Given the description of an element on the screen output the (x, y) to click on. 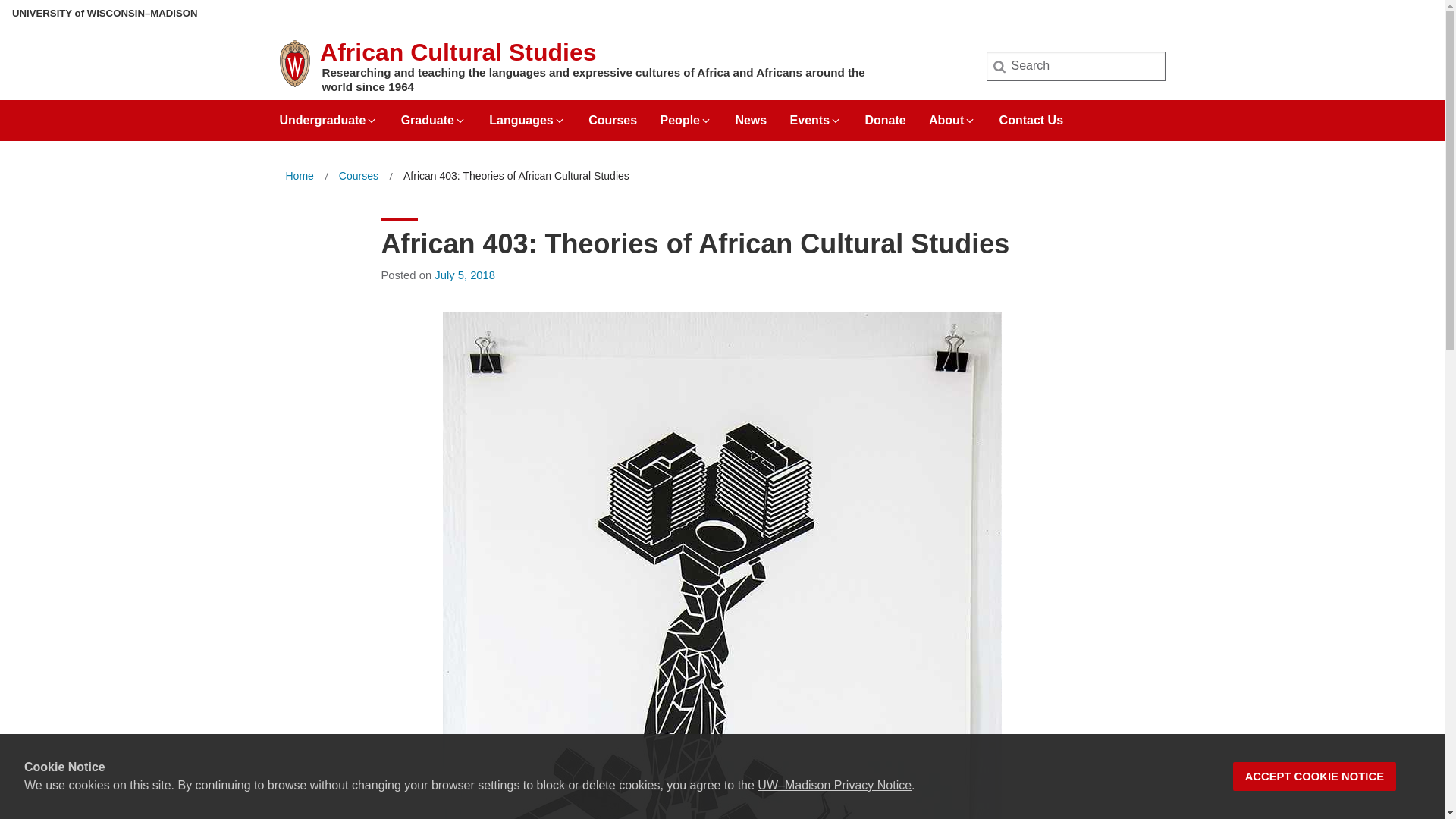
Expand (559, 120)
News (751, 115)
Skip to main content (3, 3)
Expand (371, 120)
Graduate Expand (433, 115)
Events Expand (815, 115)
Expand (969, 120)
ACCEPT COOKIE NOTICE (1314, 776)
Home (299, 176)
Languages Expand (526, 115)
